Given the description of an element on the screen output the (x, y) to click on. 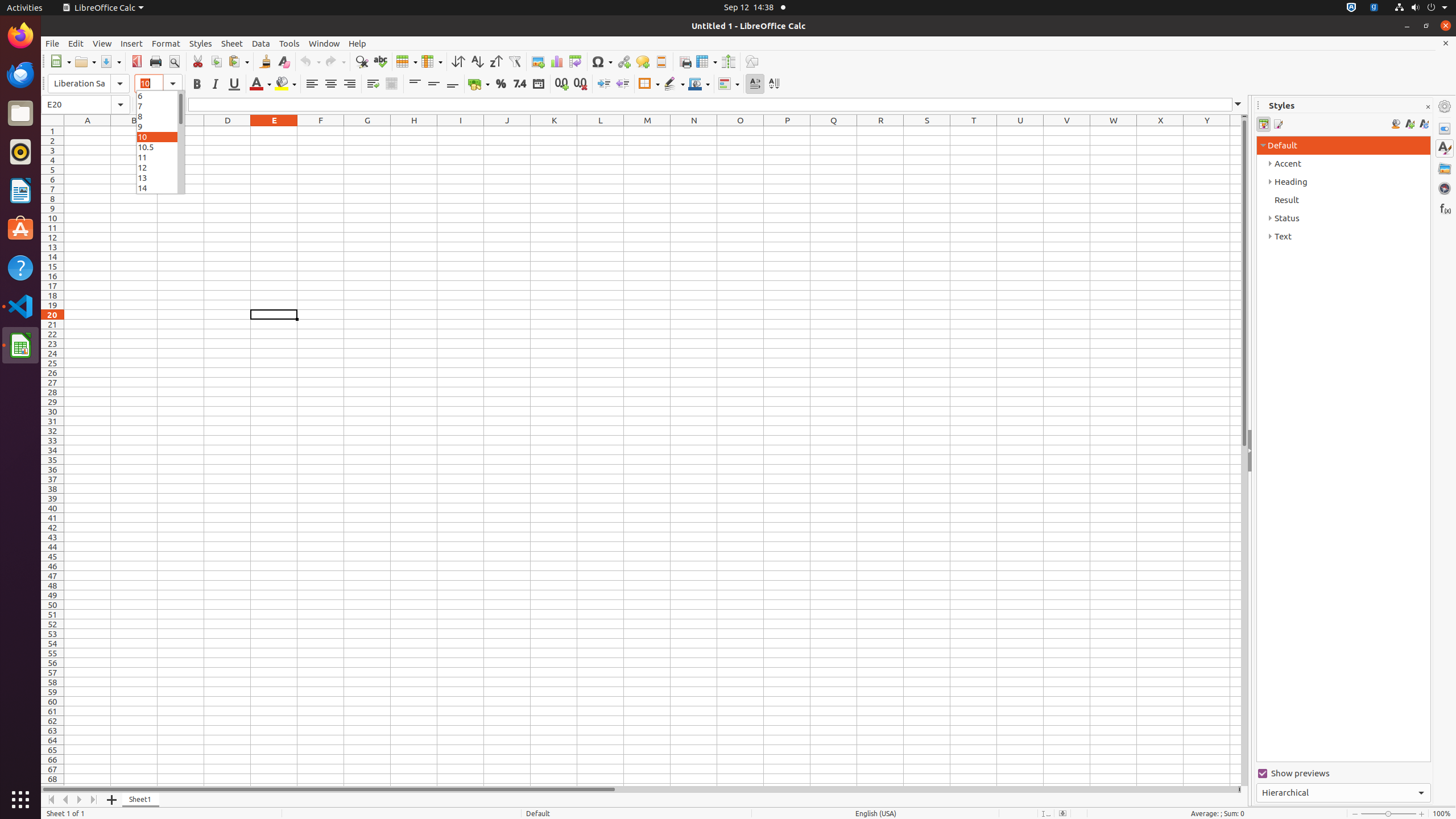
PDF Element type: push-button (136, 61)
:1.72/StatusNotifierItem Element type: menu (1350, 7)
Properties Element type: radio-button (1444, 128)
Find & Replace Element type: toggle-button (361, 61)
Print Preview Element type: toggle-button (173, 61)
